Given the description of an element on the screen output the (x, y) to click on. 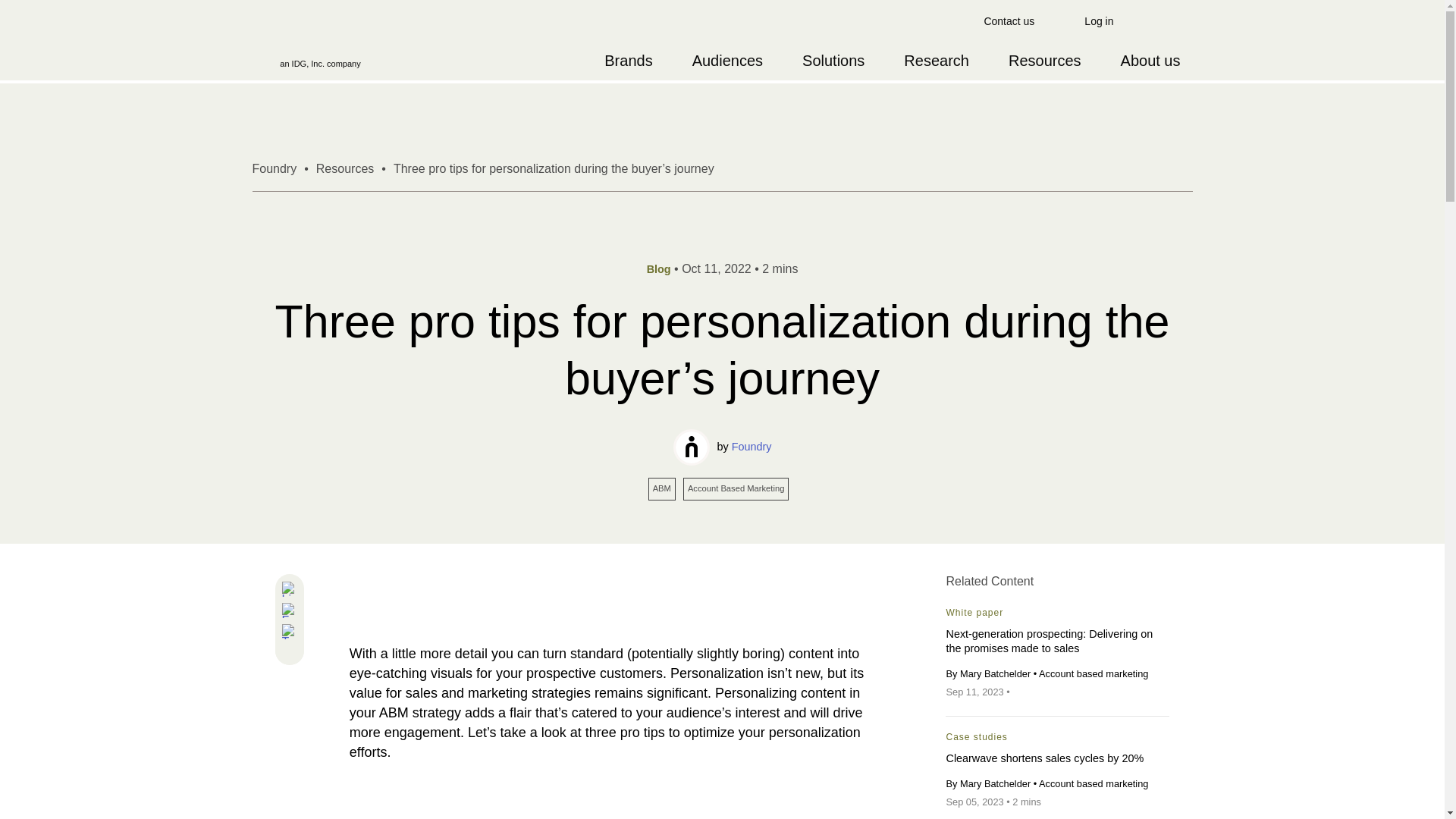
Contact us (1008, 20)
Resources (344, 168)
Solutions (833, 60)
Facebook (289, 610)
Brands (627, 60)
Log in (1098, 20)
LinkedIn (289, 589)
an IDG, Inc. company (319, 40)
Twitter (289, 632)
Audiences (726, 60)
